Given the description of an element on the screen output the (x, y) to click on. 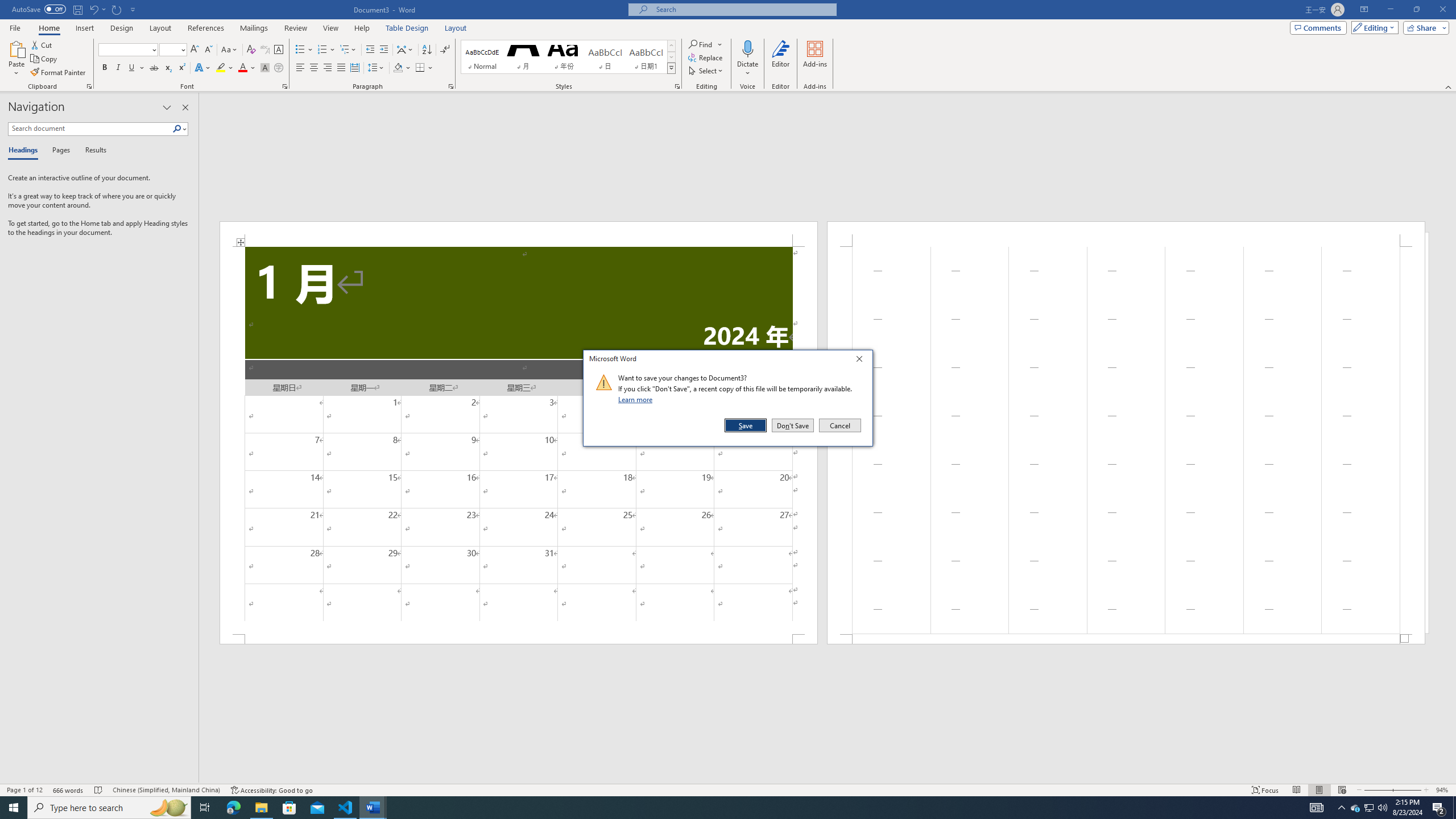
Undo Apply Quick Style (96, 9)
Character Shading (264, 67)
Open (182, 49)
Superscript (180, 67)
Class: NetUIScrollBar (827, 778)
Ribbon Display Options (1364, 9)
Close pane (185, 107)
Shrink Font (208, 49)
Center (313, 67)
Mailings (253, 28)
Table Design (407, 28)
